Given the description of an element on the screen output the (x, y) to click on. 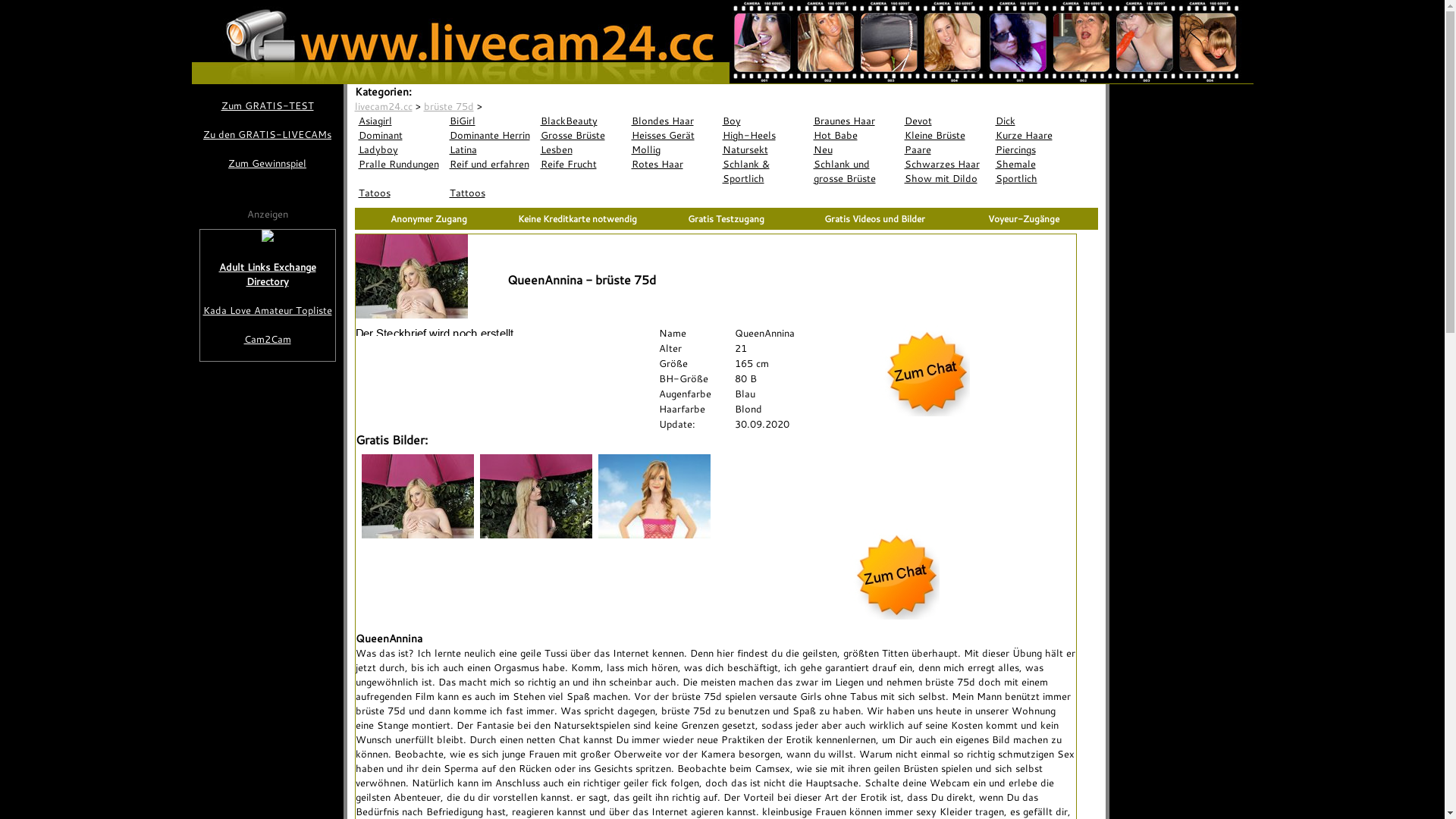
Schlank & Sportlich Element type: text (763, 170)
Lesben Element type: text (581, 149)
BiGirl Element type: text (490, 120)
Pralle Rundungen Element type: text (399, 163)
Adult Links Exchange Directory Element type: text (267, 274)
Latina Element type: text (490, 149)
Boy Element type: text (763, 120)
Neu Element type: text (854, 149)
Paare Element type: text (945, 149)
Devot Element type: text (945, 120)
Kada Love Amateur Topliste Element type: text (267, 310)
Blondes Haar Element type: text (672, 120)
Sportlich Element type: text (1036, 178)
Braunes Haar Element type: text (854, 120)
QueenAnnina Element type: text (515, 105)
Asiagirl Element type: text (399, 120)
Natursekt Element type: text (763, 149)
Zum GRATIS-TEST Element type: text (266, 105)
livecam24.cc Element type: text (383, 105)
Show mit Dildo Element type: text (945, 178)
Piercings Element type: text (1036, 149)
Tatoos Element type: text (399, 192)
Schwarzes Haar Element type: text (945, 163)
Tattoos Element type: text (490, 192)
Reif und erfahren Element type: text (490, 163)
Ladyboy Element type: text (399, 149)
Zu den GRATIS-LIVECAMs Element type: text (266, 134)
Hot Babe Element type: text (854, 135)
QueenAnnina Profil Element type: hover (438, 331)
Cam2Cam Element type: text (267, 339)
Dick Element type: text (1036, 120)
Dominante Herrin Element type: text (490, 135)
Kurze Haare Element type: text (1036, 135)
Shemale Element type: text (1036, 163)
High-Heels Element type: text (763, 135)
Reife Frucht Element type: text (581, 163)
Zum Gewinnspiel Element type: text (266, 163)
Mollig Element type: text (672, 149)
BlackBeauty Element type: text (581, 120)
Rotes Haar Element type: text (672, 163)
Dominant Element type: text (399, 135)
